Given the description of an element on the screen output the (x, y) to click on. 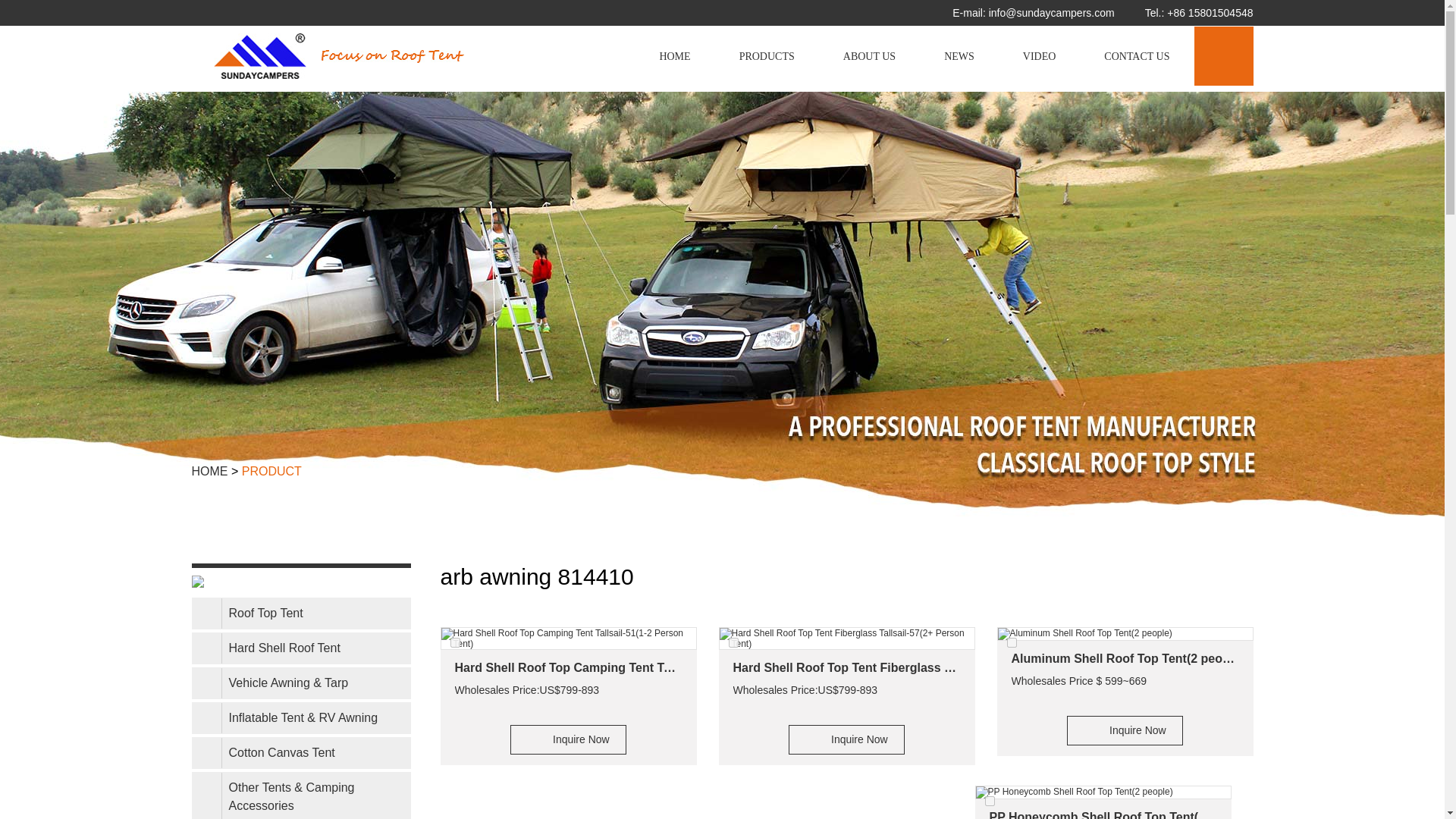
PRODUCTS (766, 56)
841 (733, 642)
1013 (1011, 642)
1014 (989, 800)
Home (674, 56)
sundaycampers.com (392, 56)
sundaycampers.com (259, 55)
HOME (674, 56)
on (1011, 642)
on (454, 642)
